Given the description of an element on the screen output the (x, y) to click on. 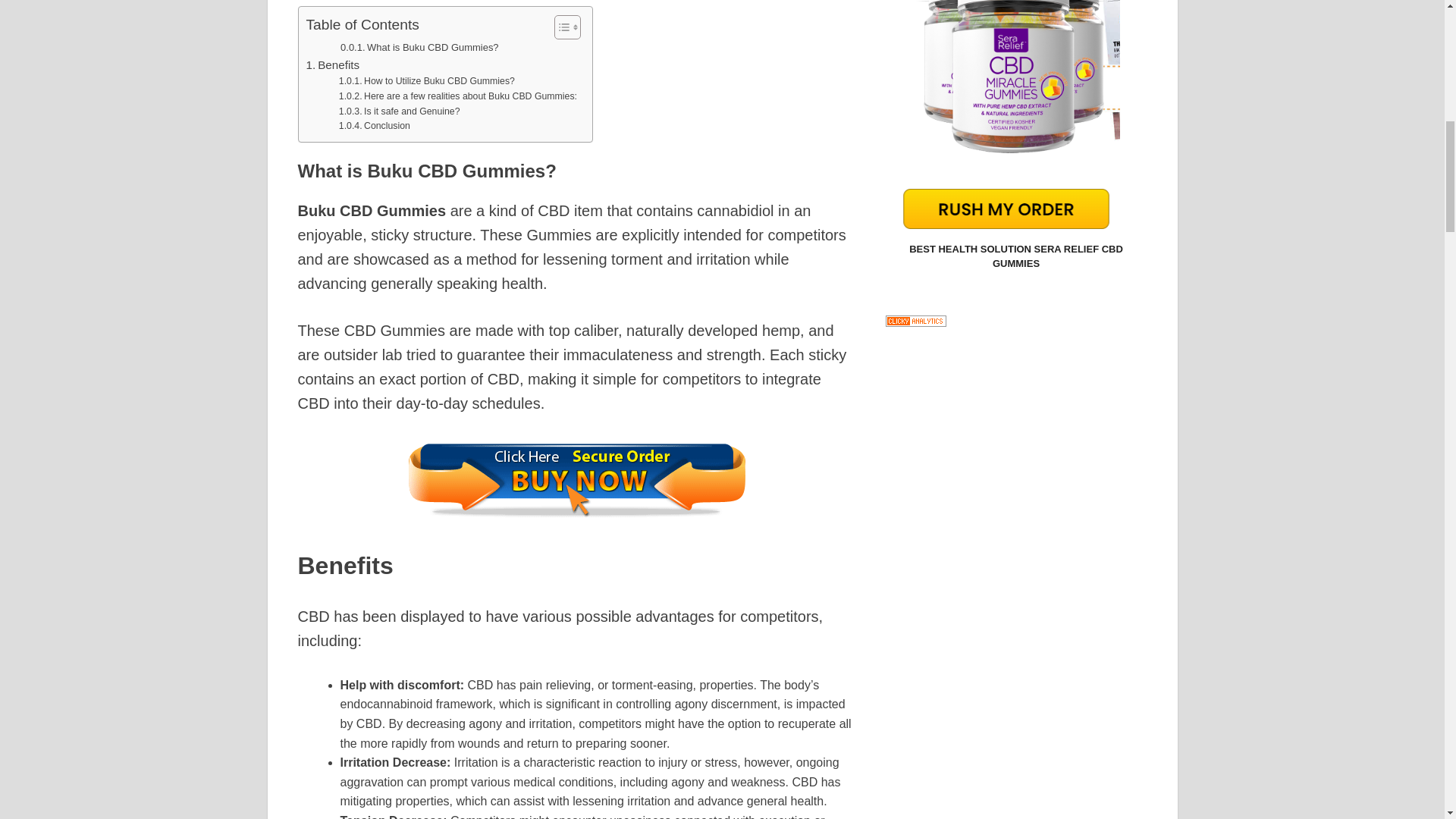
Is it safe and Genuine? (399, 111)
Privacy-friendly Web Analytics (915, 322)
Here are a few realities about Buku CBD Gummies: (457, 96)
How to Utilize Buku CBD Gummies? (427, 81)
Benefits (332, 65)
Here are a few realities about Buku CBD Gummies: (457, 96)
Benefits (332, 65)
What is Buku CBD Gummies? (418, 48)
Conclusion (374, 126)
What is Buku CBD Gummies? (418, 48)
Is it safe and Genuine? (399, 111)
Conclusion (374, 126)
How to Utilize Buku CBD Gummies? (427, 81)
